Given the description of an element on the screen output the (x, y) to click on. 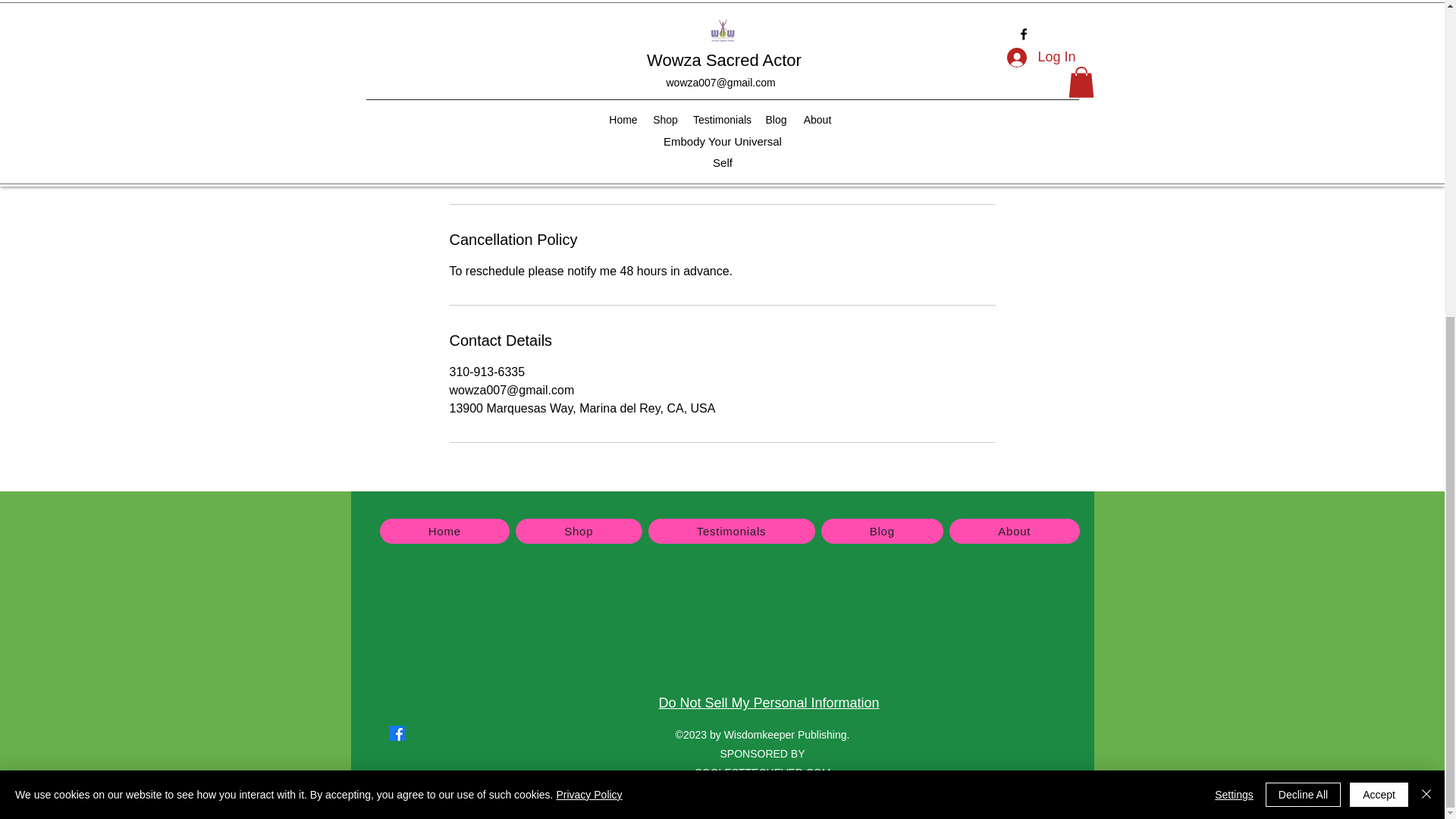
Shop (578, 530)
Blog (882, 530)
About (1013, 530)
Privacy Policy (588, 285)
Decline All (1302, 284)
Do Not Sell My Personal Information (768, 703)
Testimonials (731, 530)
Home (443, 530)
Accept (1378, 284)
